Given the description of an element on the screen output the (x, y) to click on. 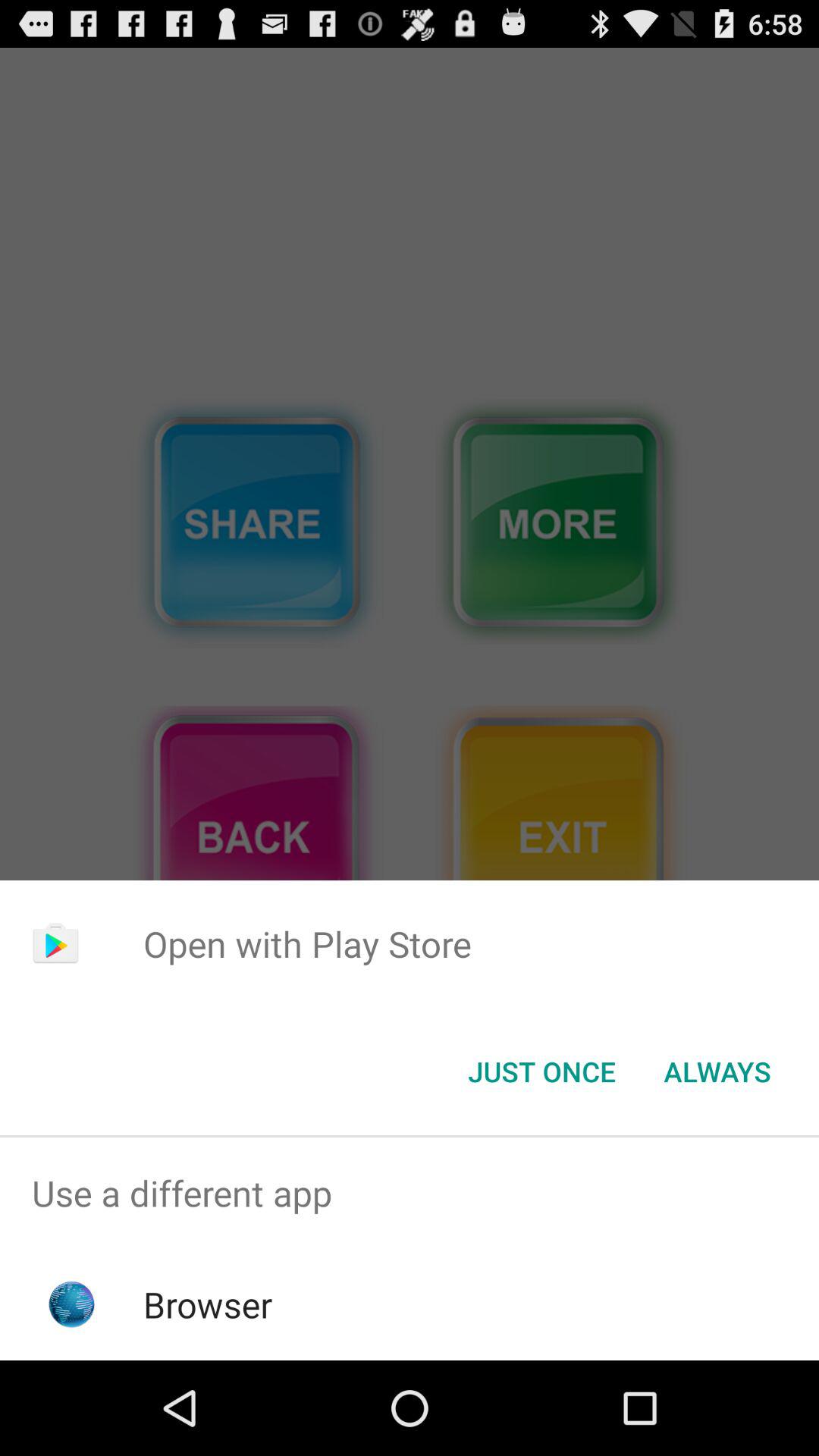
turn off icon to the right of the just once item (717, 1071)
